Given the description of an element on the screen output the (x, y) to click on. 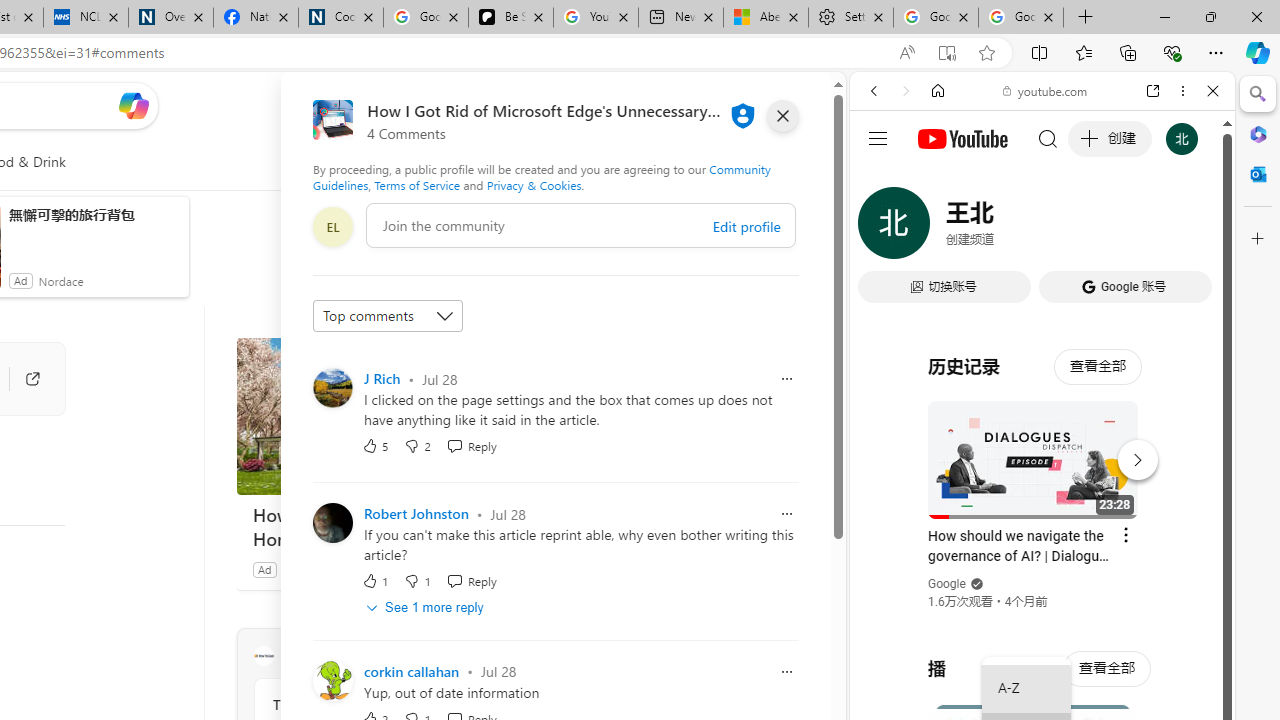
This site scope (936, 180)
youtube.com (1046, 90)
#you (1042, 445)
Profile Picture (333, 680)
To get missing image descriptions, open the context menu. (449, 162)
A-Z (1026, 688)
How To Borrow From Your Home Without Touching Your Mortgage (386, 526)
Search videos from youtube.com (1005, 657)
Cookies (340, 17)
Terms of Service (416, 184)
